Given the description of an element on the screen output the (x, y) to click on. 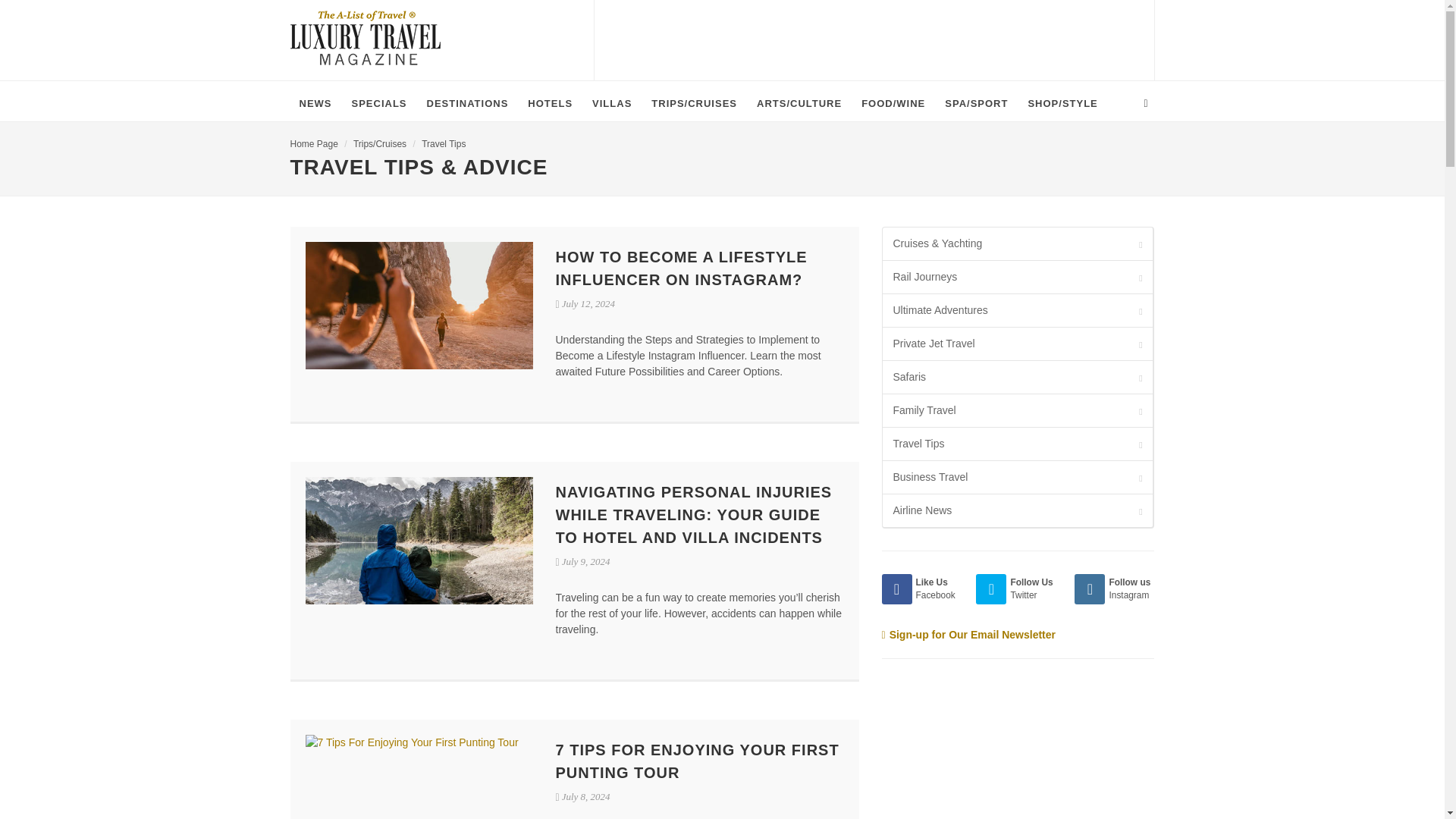
HOTELS (549, 103)
NEWS (314, 103)
SPECIALS (379, 103)
VILLAS (611, 103)
DESTINATIONS (467, 103)
